Given the description of an element on the screen output the (x, y) to click on. 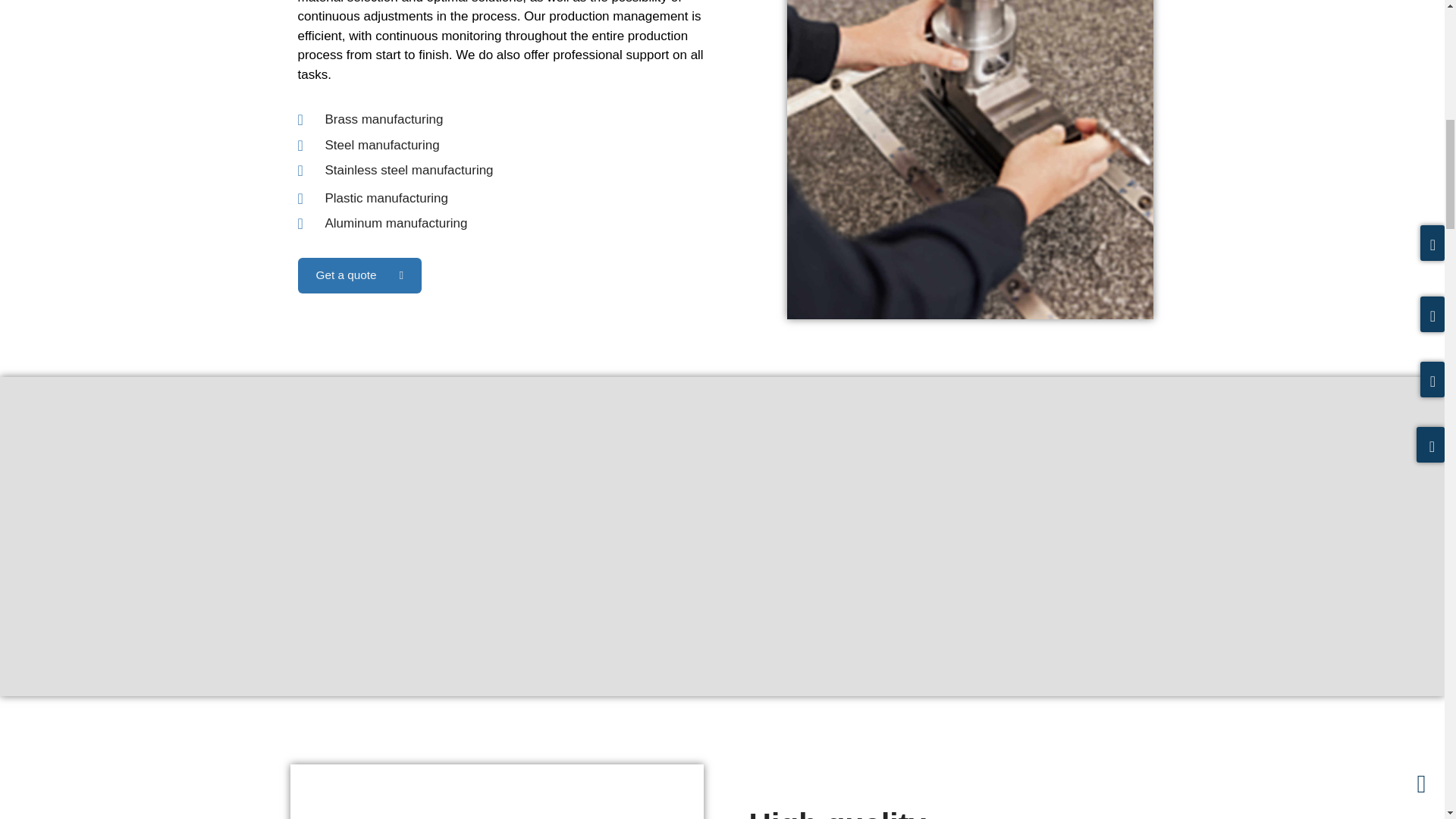
Brass manufacturing (537, 119)
Steel manufacturing (537, 145)
Stainless steel manufacturing (537, 170)
